Given the description of an element on the screen output the (x, y) to click on. 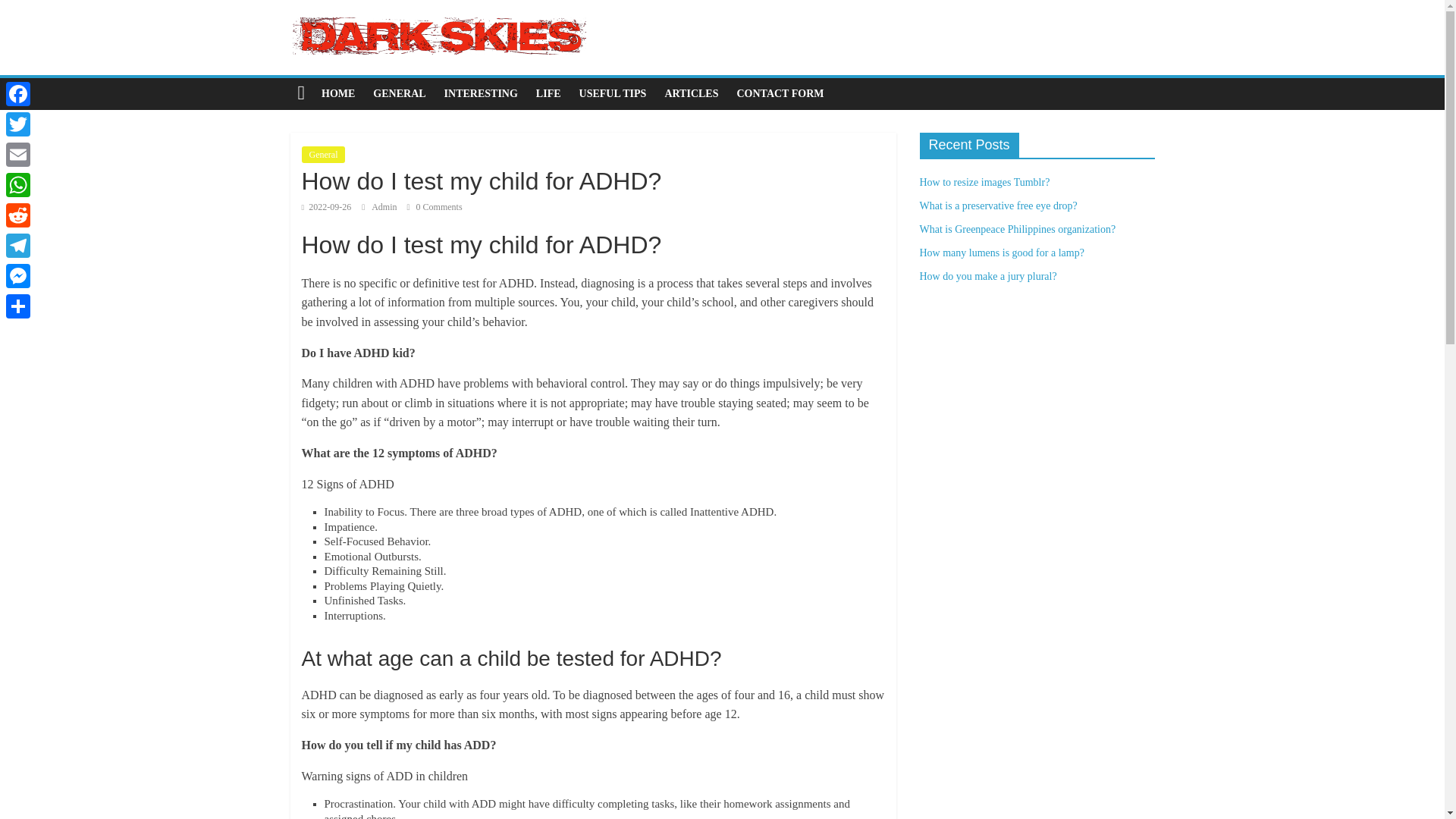
Facebook (17, 93)
Admin (384, 206)
HOME (338, 92)
0 Comments (435, 206)
How to resize images Tumblr? (983, 182)
Twitter (17, 123)
How do you make a jury plural? (987, 276)
2022-09-26 (326, 206)
What is Greenpeace Philippines organization? (1016, 229)
Facebook (17, 93)
